Given the description of an element on the screen output the (x, y) to click on. 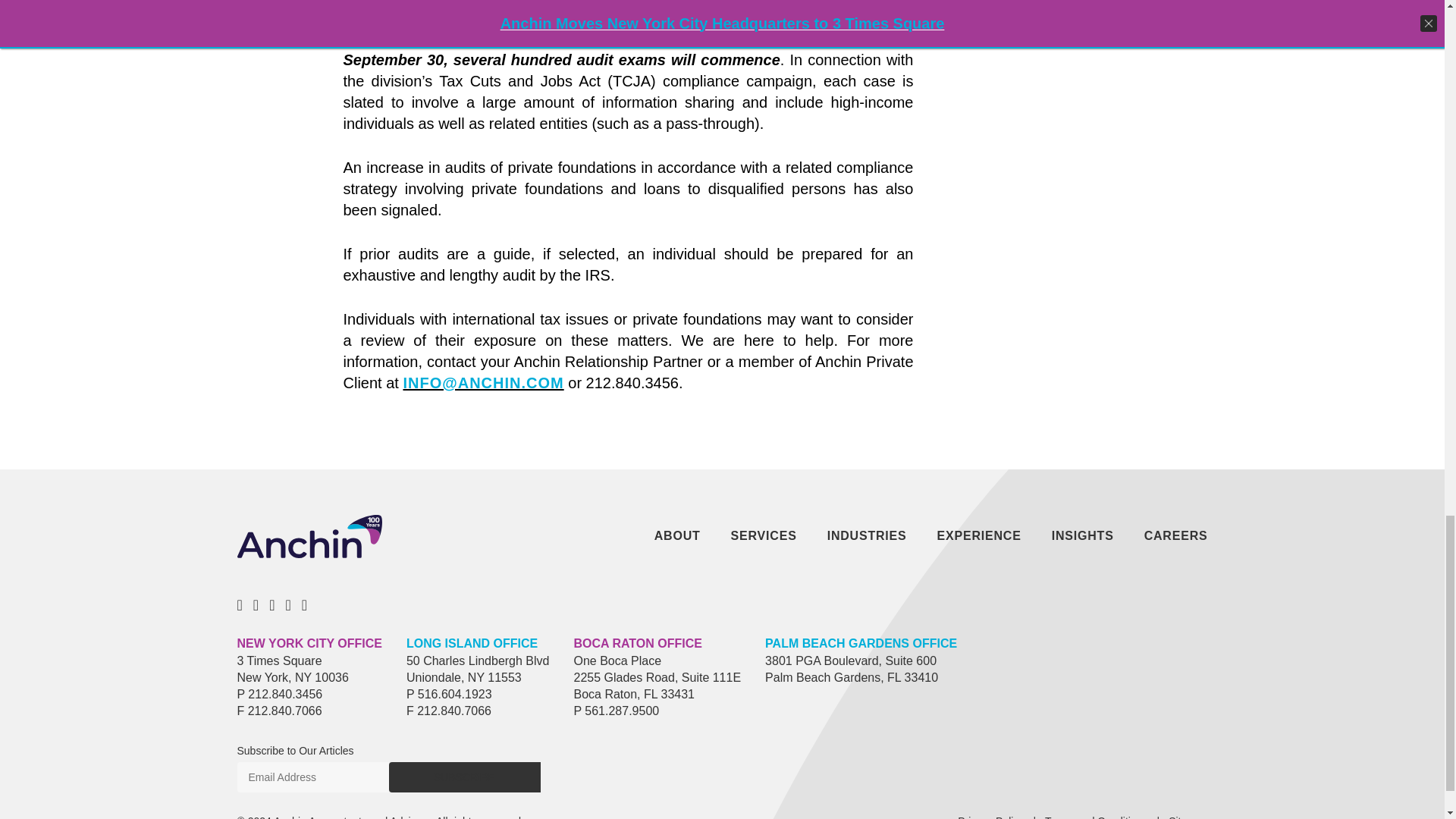
SUBSCRIBE (464, 777)
